Given the description of an element on the screen output the (x, y) to click on. 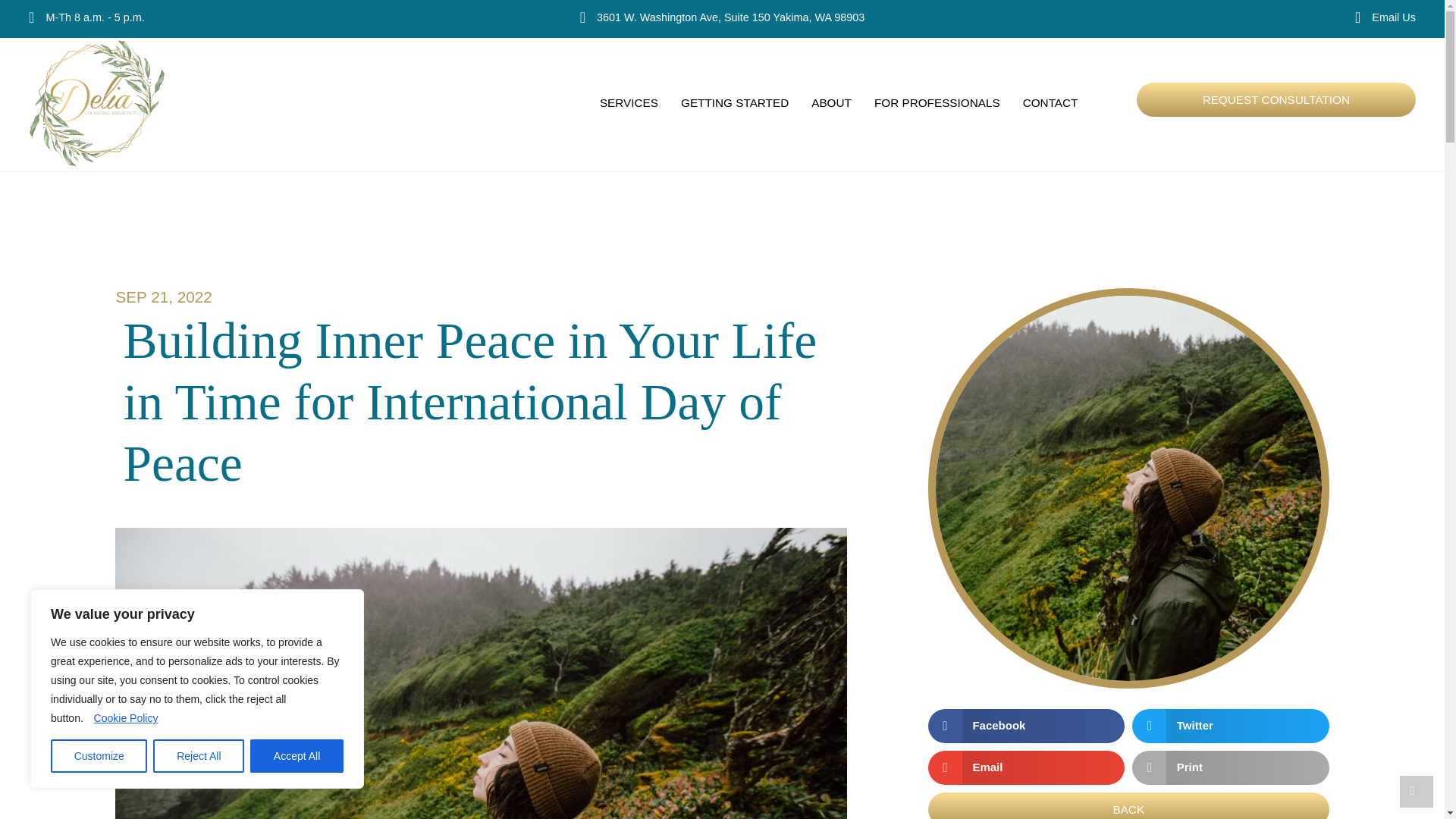
3601 W. Washington Ave, Suite 150 Yakima, WA 98903 (730, 17)
Best Logo (97, 102)
Reject All (198, 756)
Cookie Policy (125, 717)
Customize (98, 756)
Accept All (296, 756)
